Given the description of an element on the screen output the (x, y) to click on. 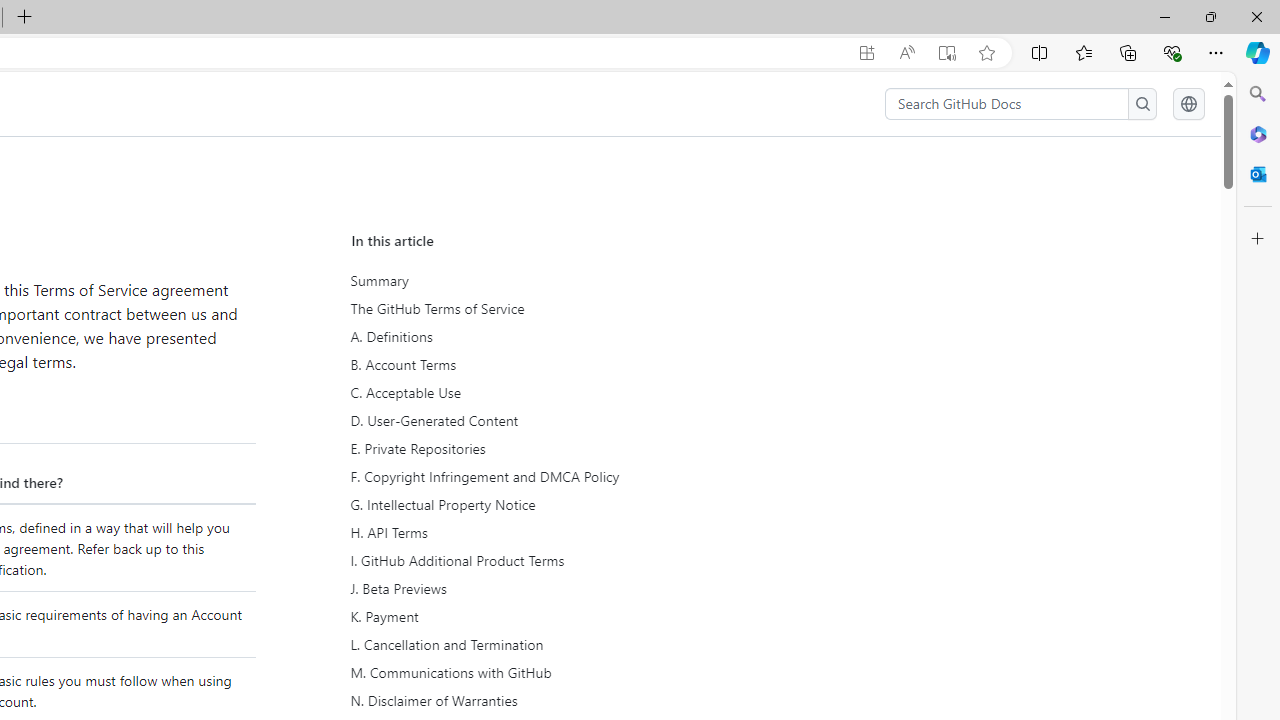
F. Copyright Infringement and DMCA Policy (535, 476)
G. Intellectual Property Notice (535, 505)
N. Disclaimer of Warranties (538, 700)
A. Definitions (535, 337)
D. User-Generated Content (538, 420)
E. Private Repositories (535, 448)
H. API Terms (538, 533)
